Given the description of an element on the screen output the (x, y) to click on. 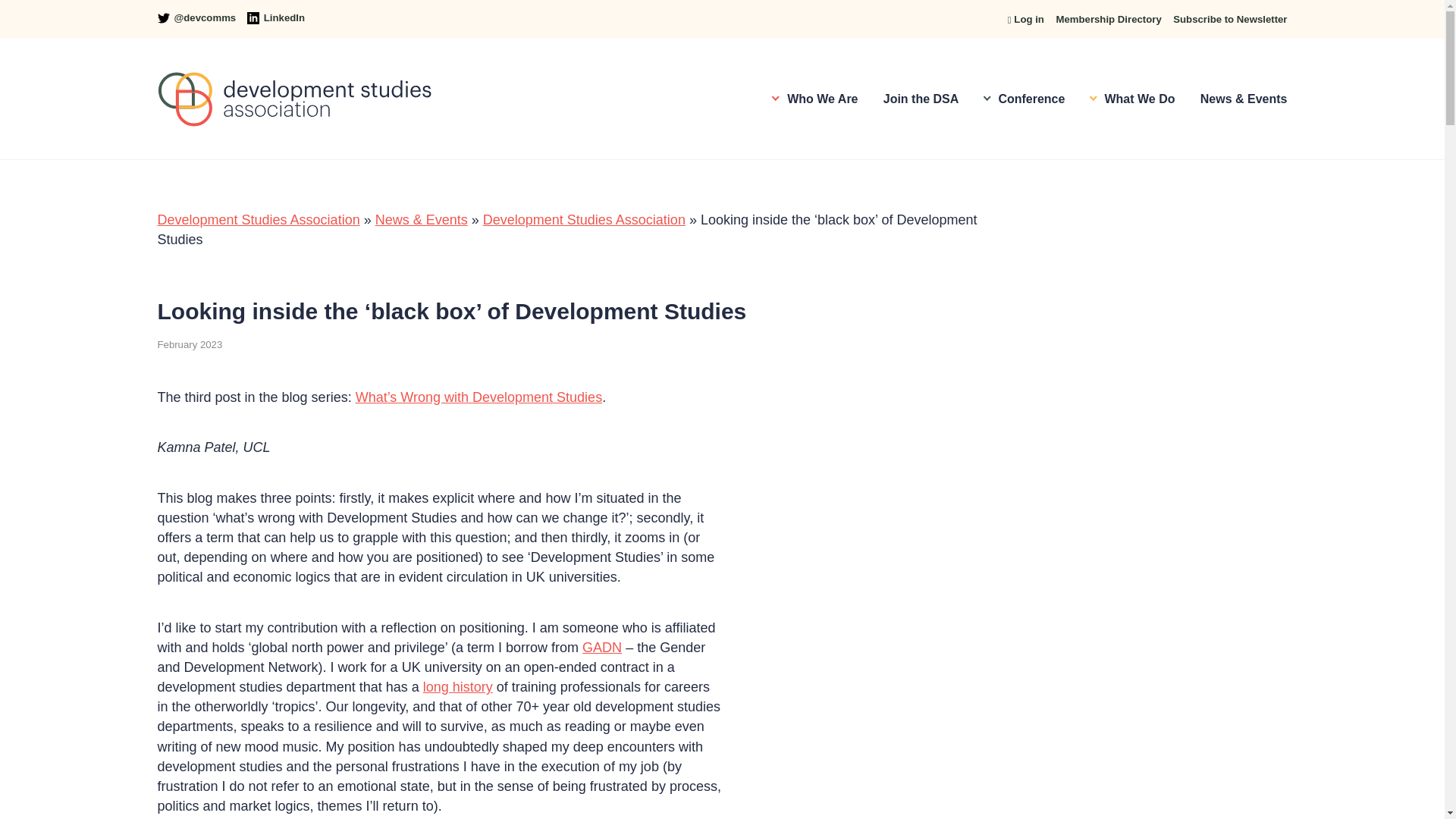
Who We Are (815, 98)
Subscribe to Newsletter (1230, 19)
Click to Authenticate at NomadIT (1025, 19)
LinkedIn (275, 17)
What We Do (1132, 98)
Log in (1025, 19)
Membership Directory (1107, 19)
Join the DSA (921, 98)
Conference (1024, 98)
